Given the description of an element on the screen output the (x, y) to click on. 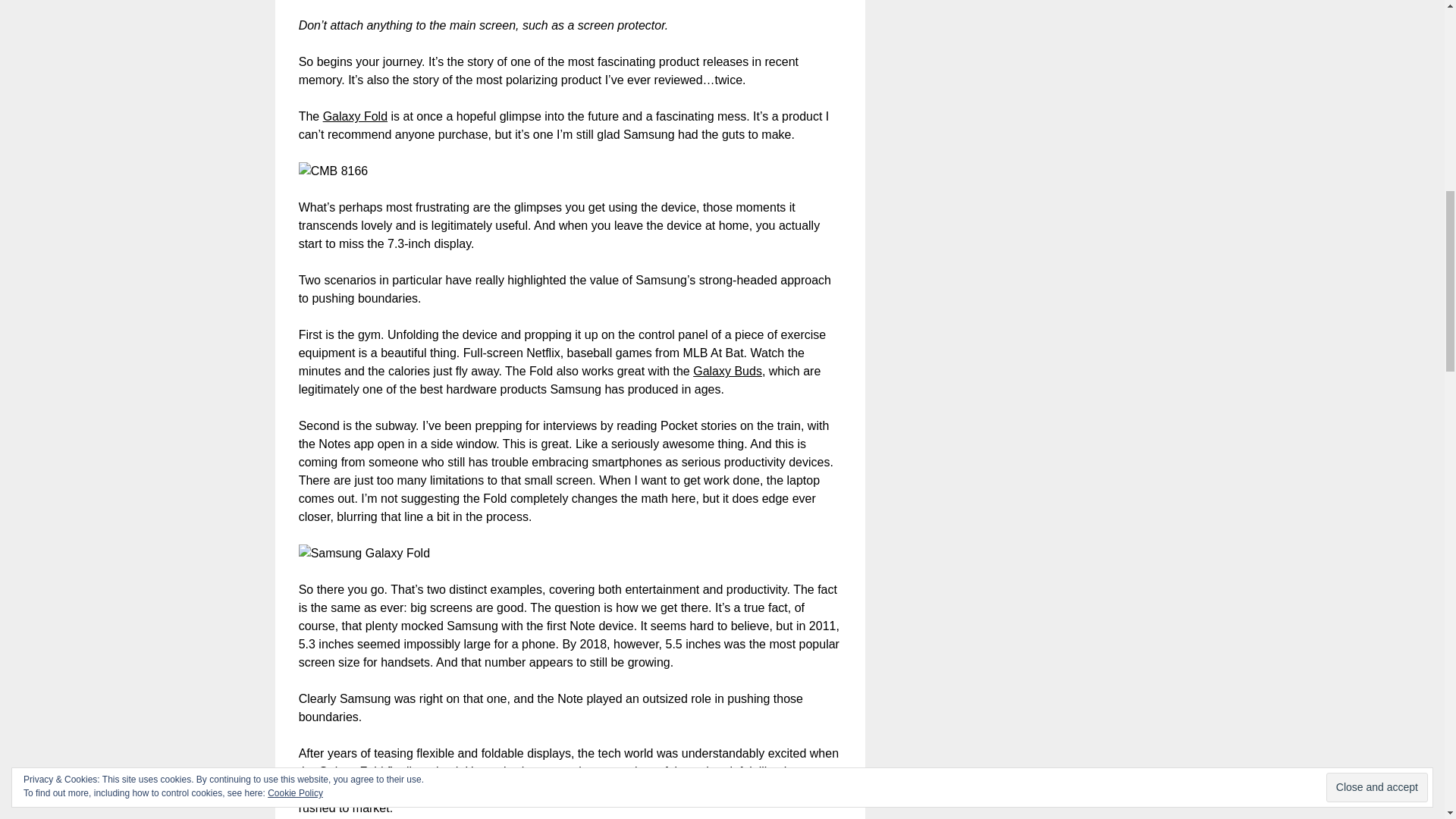
Galaxy Fold (355, 115)
Galaxy Buds (727, 370)
Samsung Galaxy Fold (363, 553)
Samsung Galaxy Fold (333, 171)
